Given the description of an element on the screen output the (x, y) to click on. 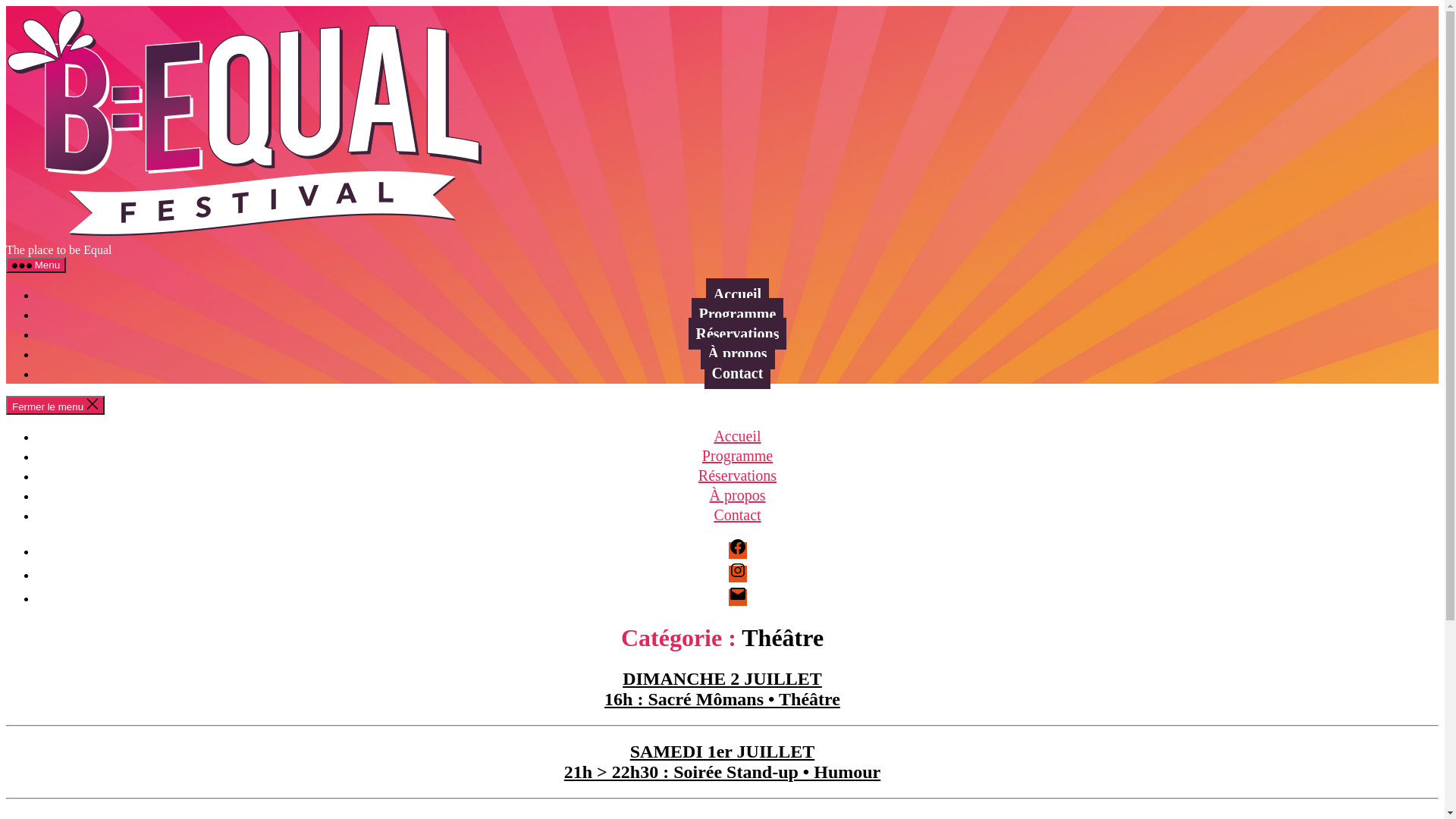
Instagram Element type: text (737, 573)
Accueil Element type: text (737, 294)
Contact Element type: text (737, 373)
Programme Element type: text (737, 313)
Aller au contenu Element type: text (5, 5)
Accueil Element type: text (736, 435)
Facebook Element type: text (737, 550)
E-mail Element type: text (737, 597)
Fermer le menu Element type: text (55, 404)
Menu Element type: text (35, 265)
Programme Element type: text (737, 455)
Contact Element type: text (736, 514)
